Given the description of an element on the screen output the (x, y) to click on. 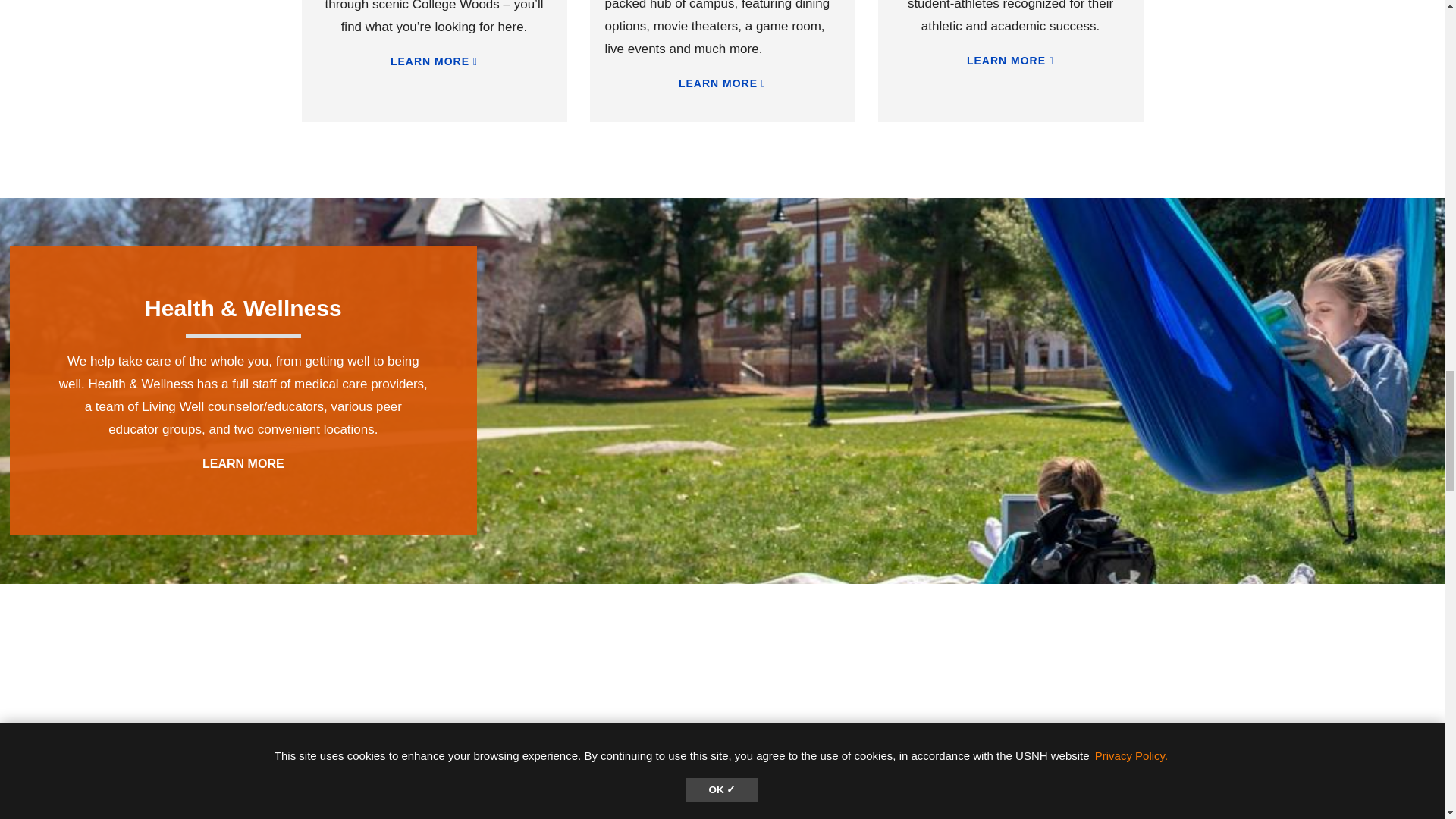
LEARN MORE (242, 463)
Athletics (1010, 60)
LEARN MORE (721, 82)
UNH Dining (1199, 731)
UNH Residence Hall Tour Episode 1 (244, 731)
LEARN MORE (1010, 60)
LEARN MORE (433, 61)
